Given the description of an element on the screen output the (x, y) to click on. 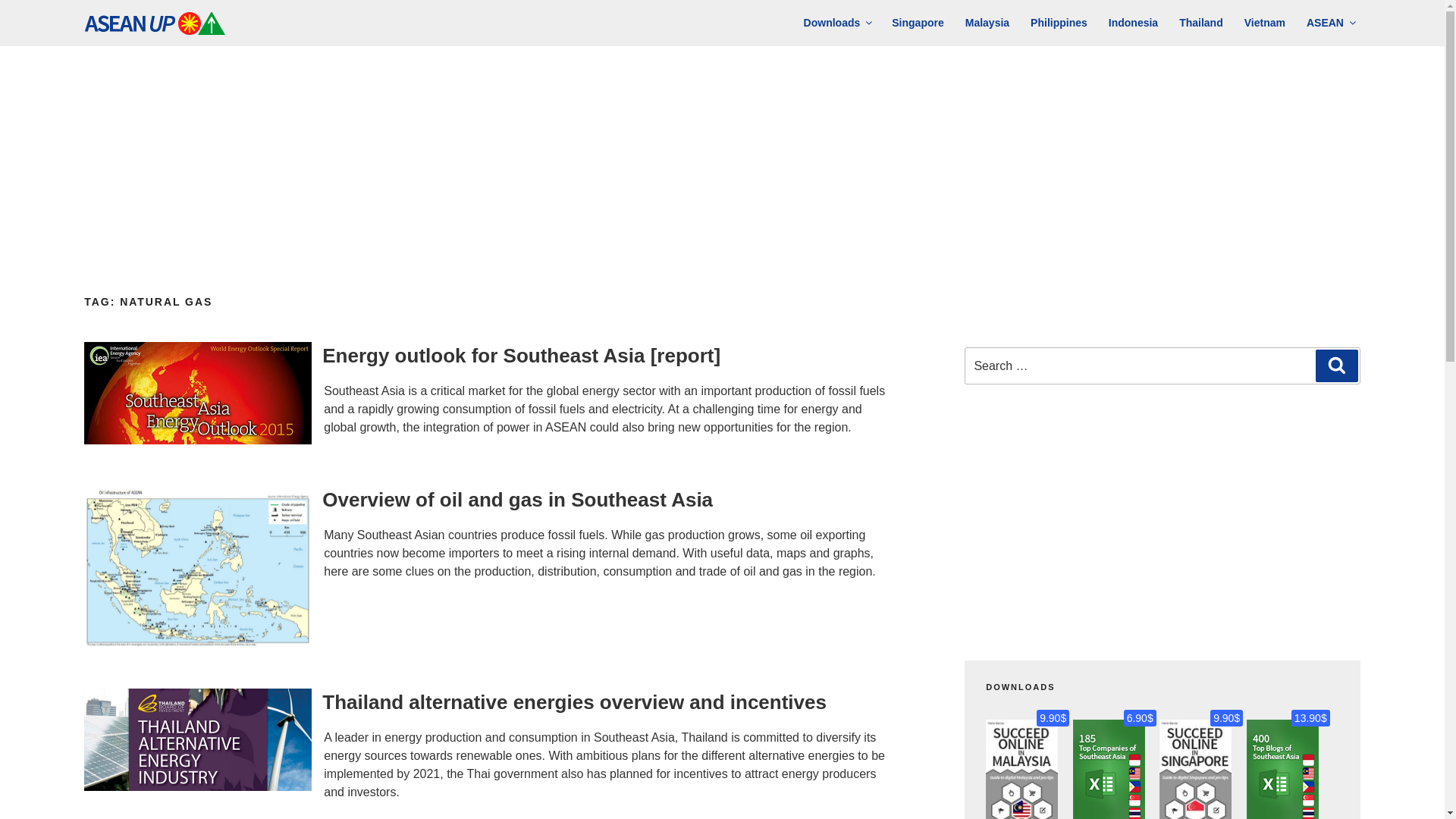
Vietnam (1264, 22)
Search (1337, 365)
ASEAN (1330, 22)
Malaysia (987, 22)
Singapore (916, 22)
Philippines (1058, 22)
Thailand alternative energies overview and incentives (574, 702)
Downloads (837, 22)
Overview of oil and gas in Southeast Asia (517, 499)
Thailand (1201, 22)
Advertisement (1161, 522)
Indonesia (1133, 22)
